Given the description of an element on the screen output the (x, y) to click on. 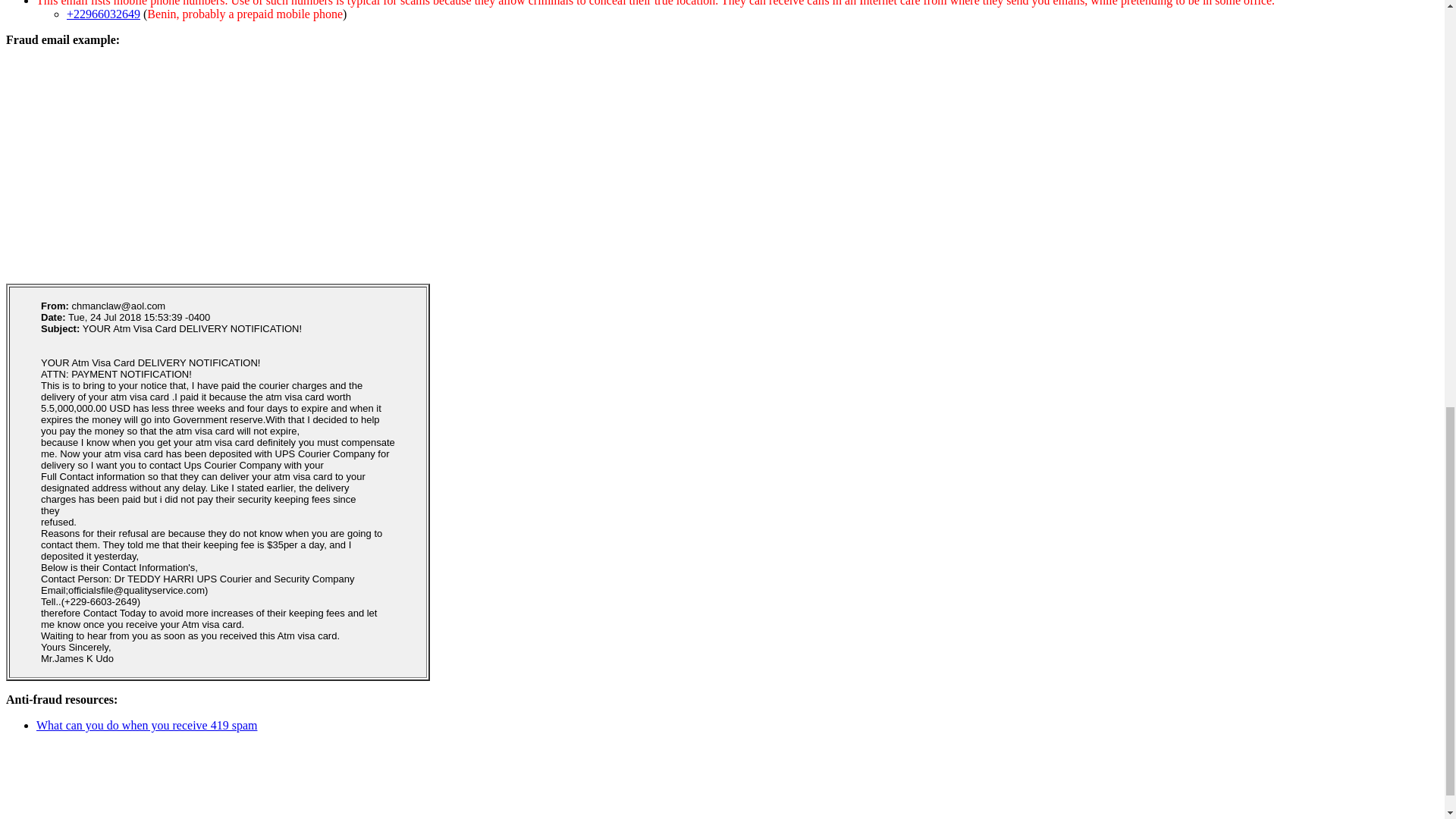
Advertisement (183, 799)
